Given the description of an element on the screen output the (x, y) to click on. 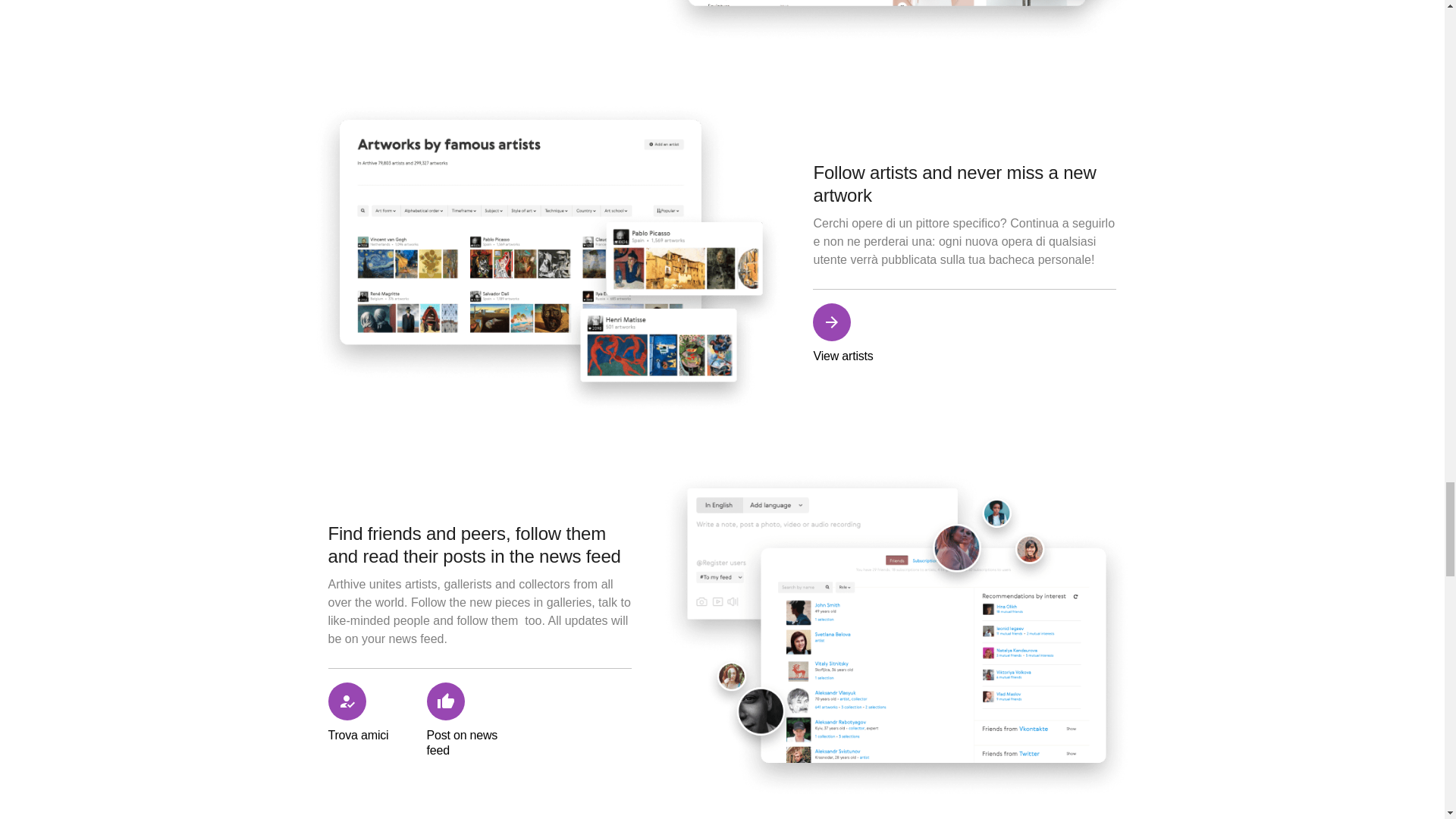
View artists (858, 333)
Post on news feed (471, 720)
Trova amici (373, 720)
